Given the description of an element on the screen output the (x, y) to click on. 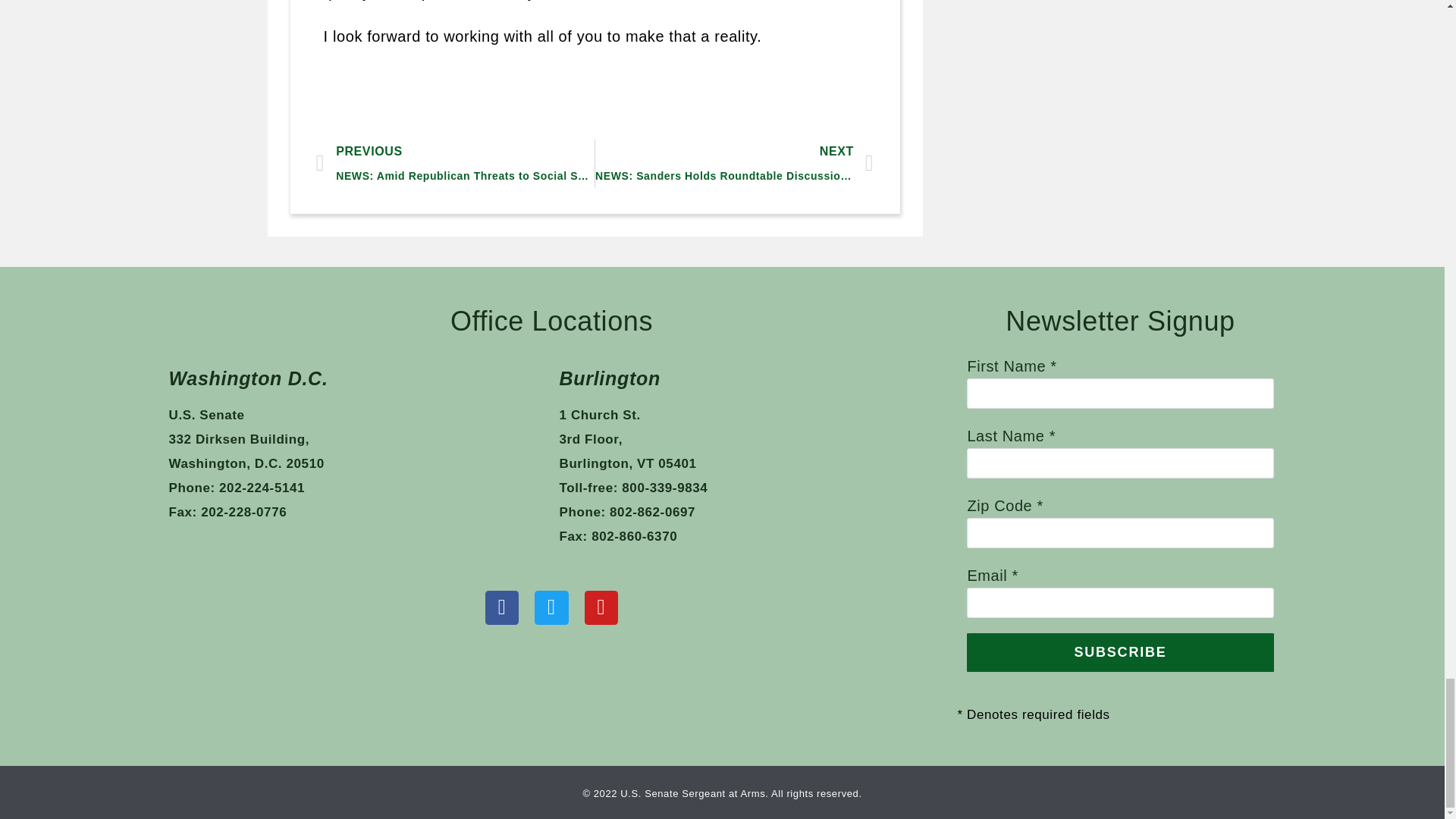
Subscribe (1119, 651)
